Given the description of an element on the screen output the (x, y) to click on. 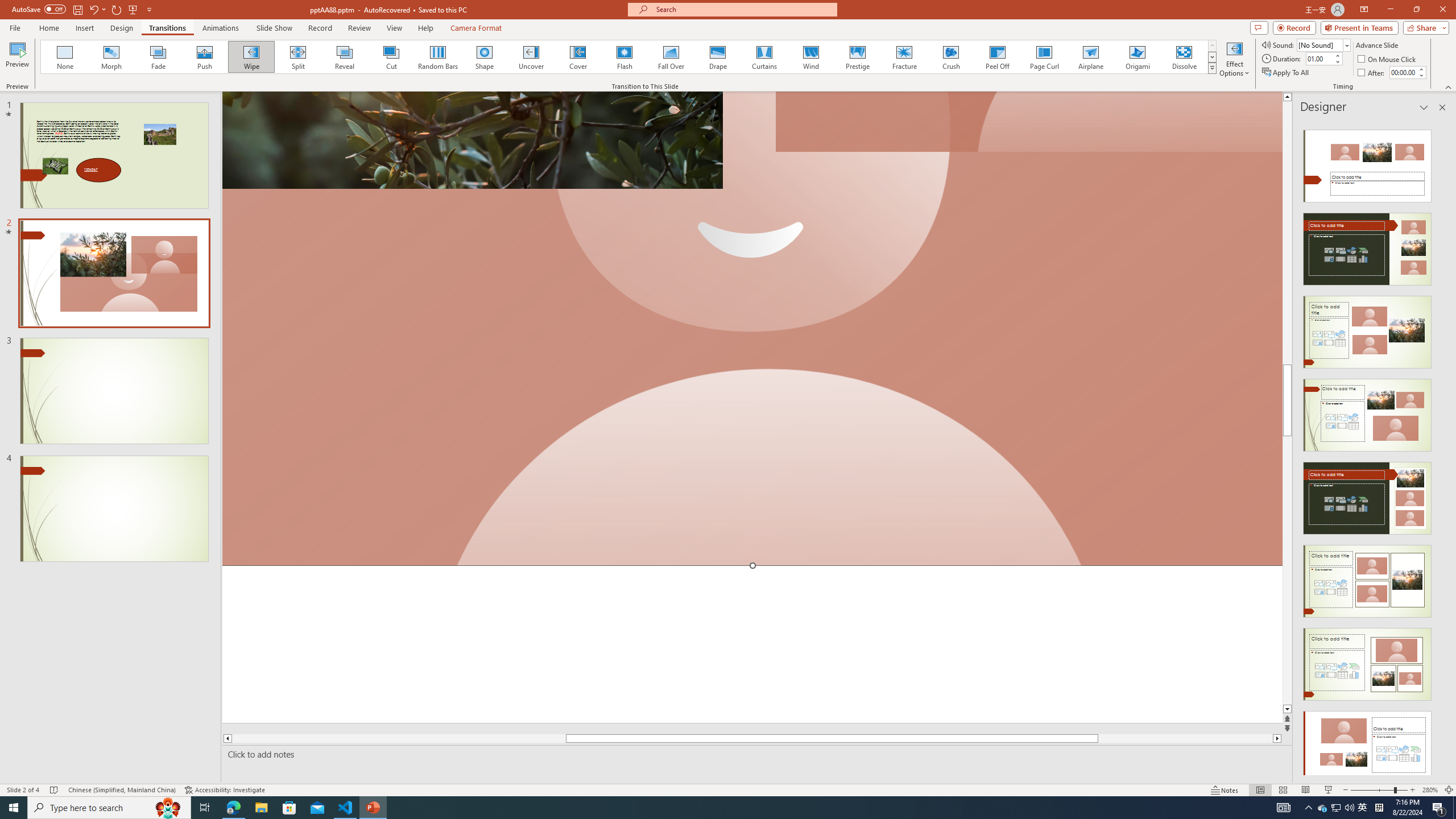
Cut (391, 56)
Recommended Design: Design Idea (1366, 162)
Camera Format (475, 28)
Fade (158, 56)
Redo (117, 9)
Sound (1324, 44)
AutoSave (38, 9)
Wind (810, 56)
Spell Check No Errors (54, 790)
Line down (1287, 709)
Zoom 280% (1430, 790)
After (1372, 72)
Normal (1260, 790)
Present in Teams (1359, 27)
Collapse the Ribbon (1448, 86)
